Given the description of an element on the screen output the (x, y) to click on. 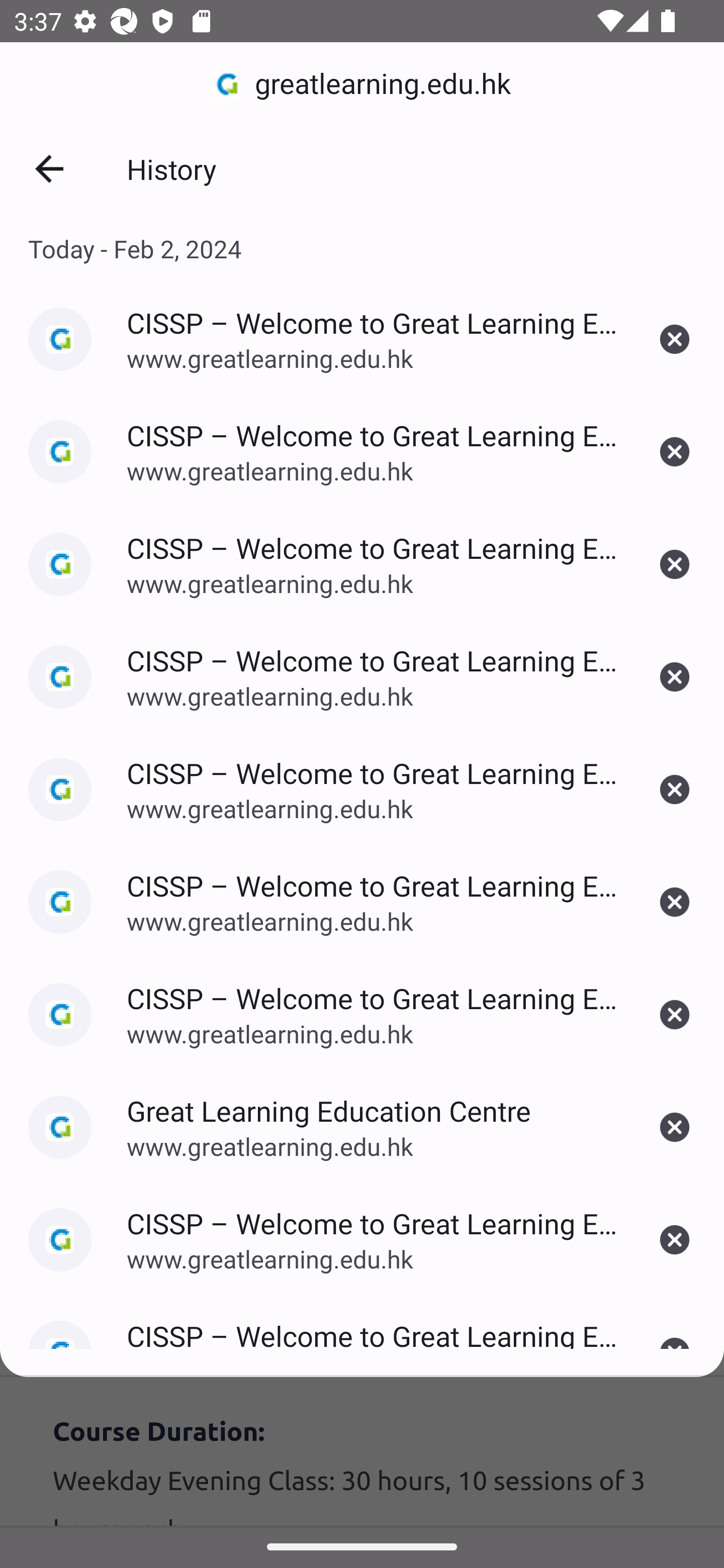
greatlearning.edu.hk (362, 84)
Back (49, 169)
Great Learning Education Centre Remove (674, 1126)
